Given the description of an element on the screen output the (x, y) to click on. 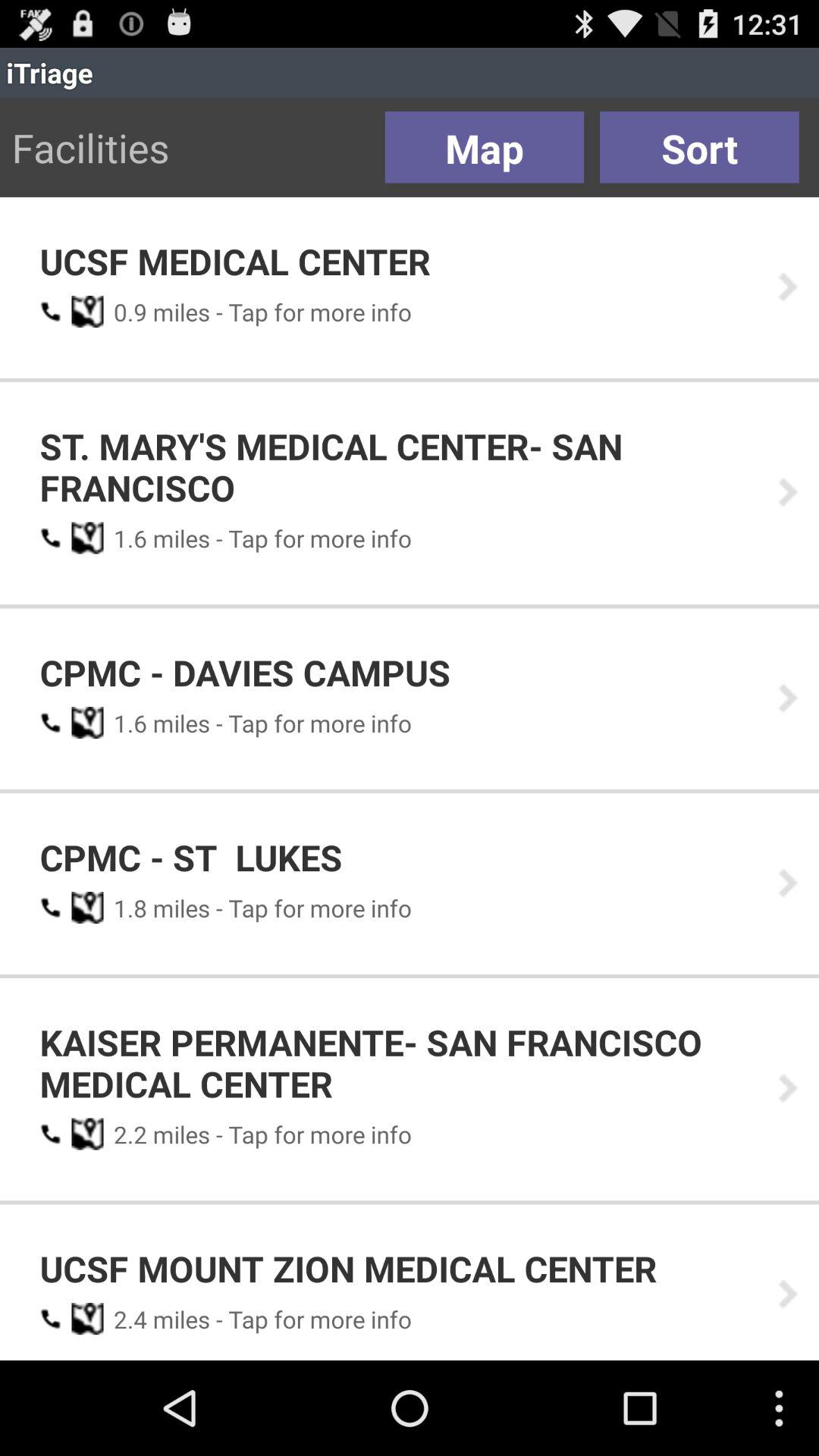
turn on app to the left of the miles tap for app (125, 311)
